Given the description of an element on the screen output the (x, y) to click on. 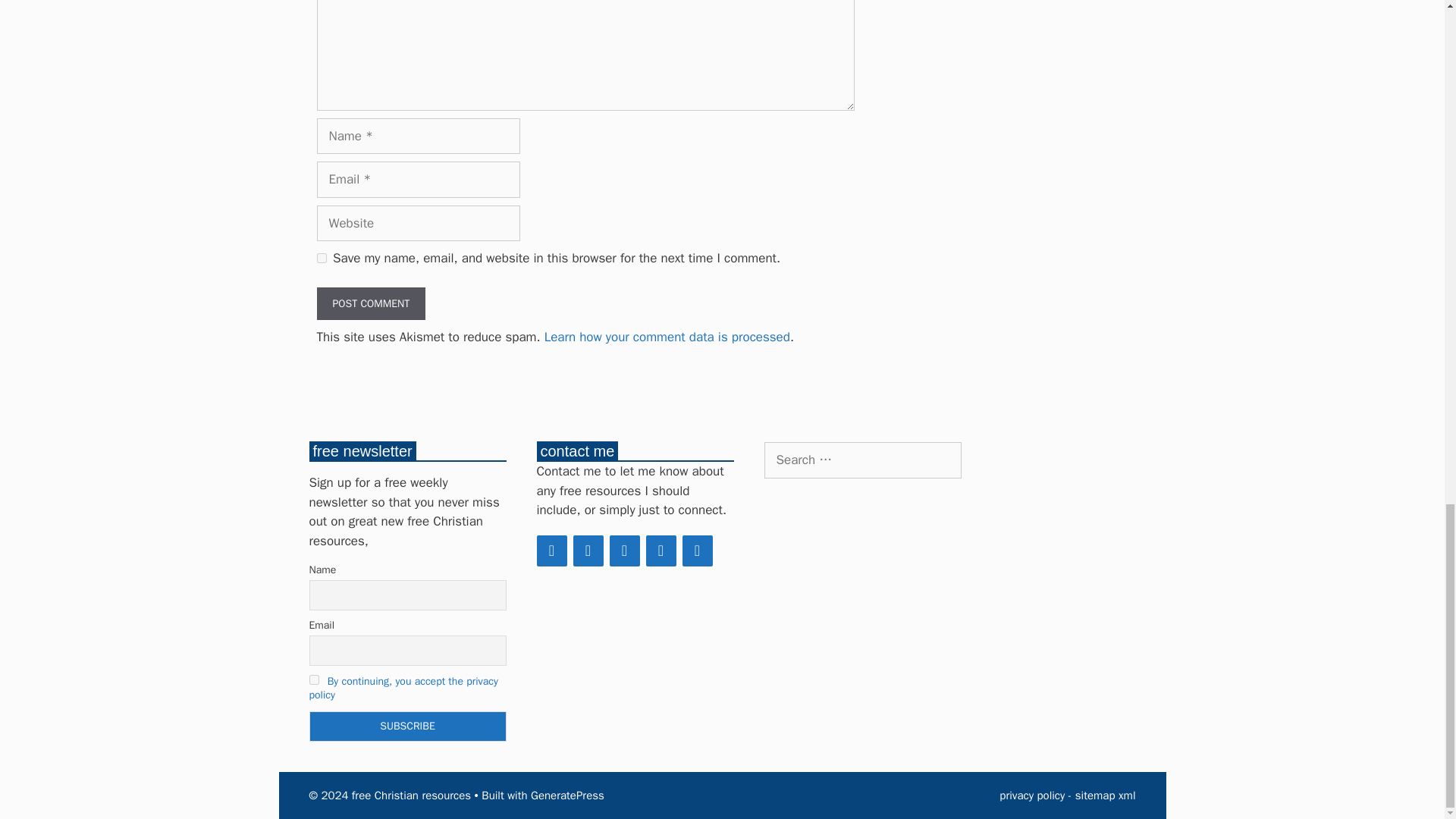
Post Comment (371, 303)
on (313, 679)
yes (321, 257)
Subscribe (407, 726)
